Given the description of an element on the screen output the (x, y) to click on. 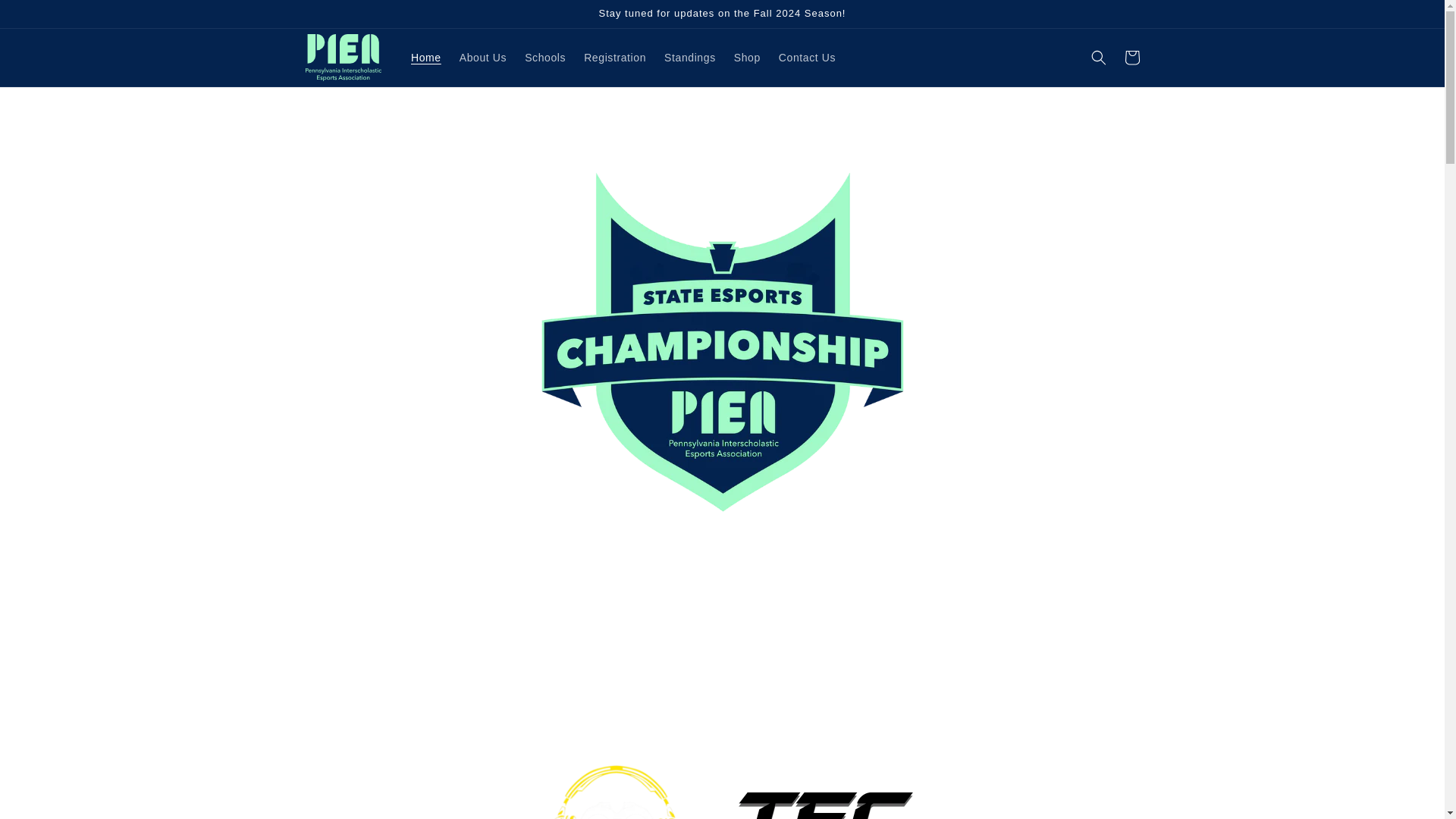
Contact Us (807, 57)
About Us (482, 57)
Home (425, 57)
Skip to content (45, 17)
Cart (1131, 57)
Standings (690, 57)
Shop (747, 57)
Registration (615, 57)
Schools (545, 57)
